Given the description of an element on the screen output the (x, y) to click on. 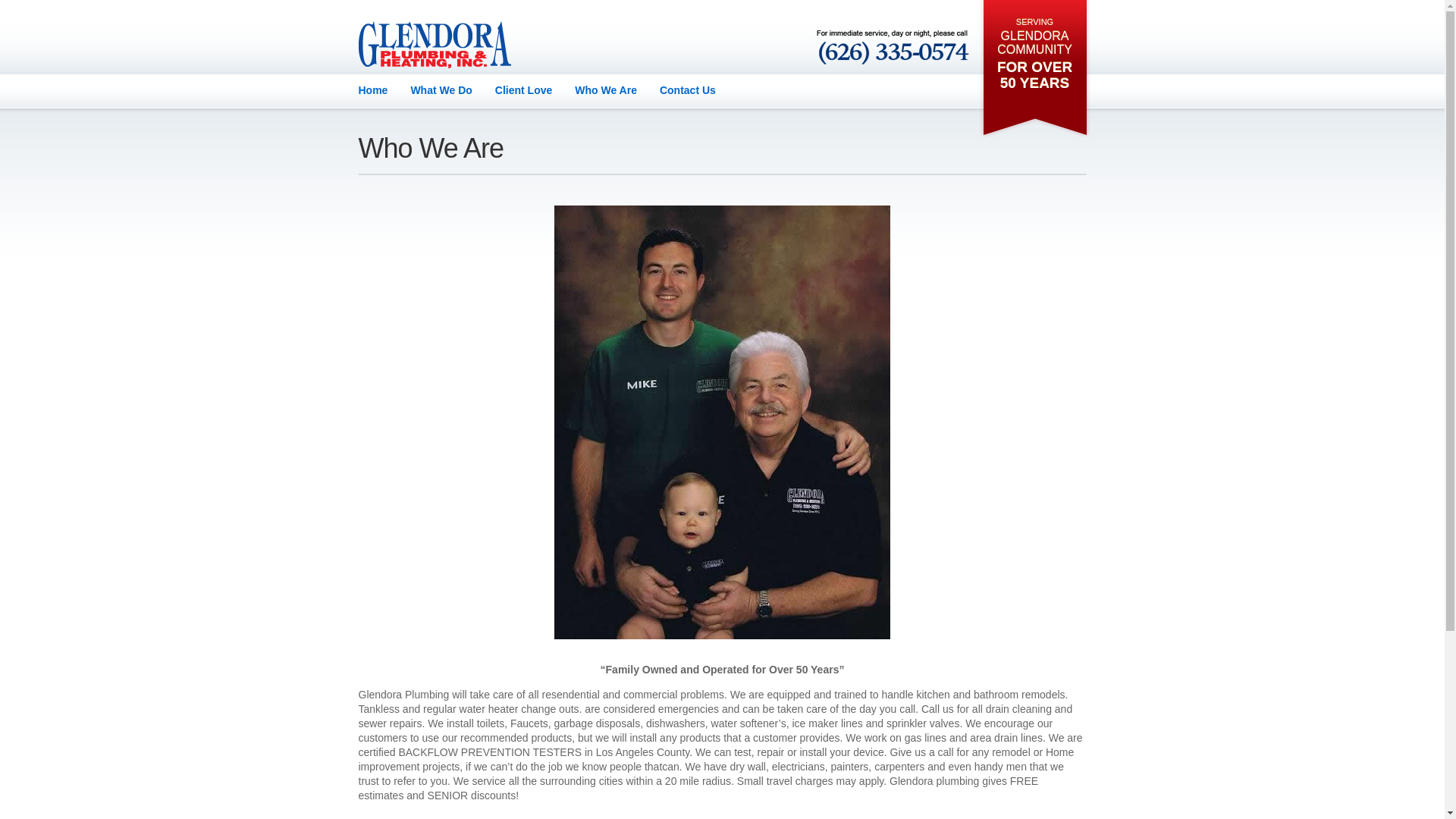
Who We Are (606, 90)
Client Love (523, 90)
What We Do (440, 90)
Home (372, 90)
Contact Us (687, 90)
